Given the description of an element on the screen output the (x, y) to click on. 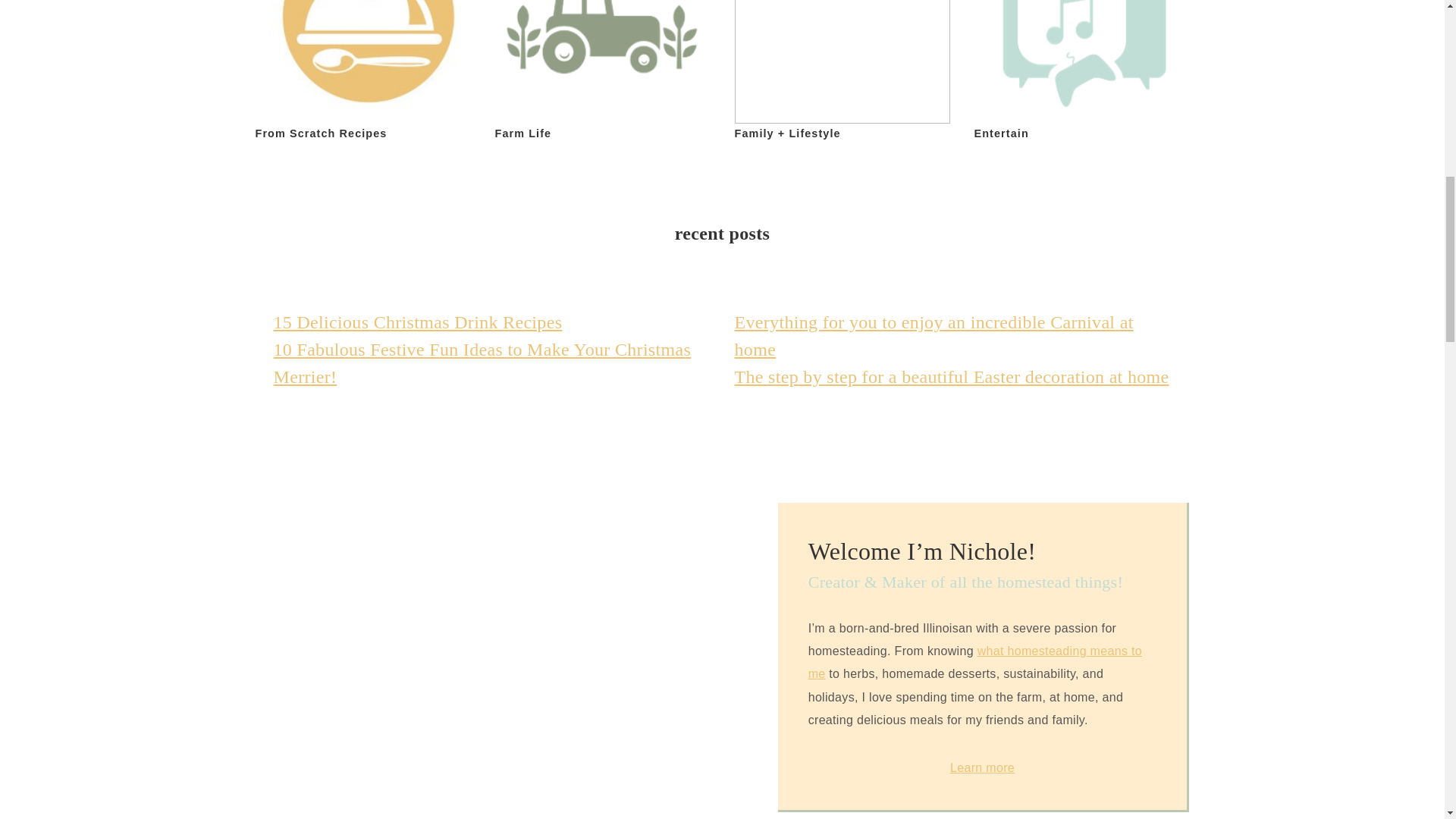
15 Delicious Christmas Drink Recipes (417, 322)
what homesteading means to me (974, 662)
Everything for you to enjoy an incredible Carnival at home (932, 335)
Entertain (1081, 72)
Farm Life (602, 72)
The step by step for a beautiful Easter decoration at home (951, 376)
From Scratch Recipes (362, 72)
Learn more (982, 767)
